Given the description of an element on the screen output the (x, y) to click on. 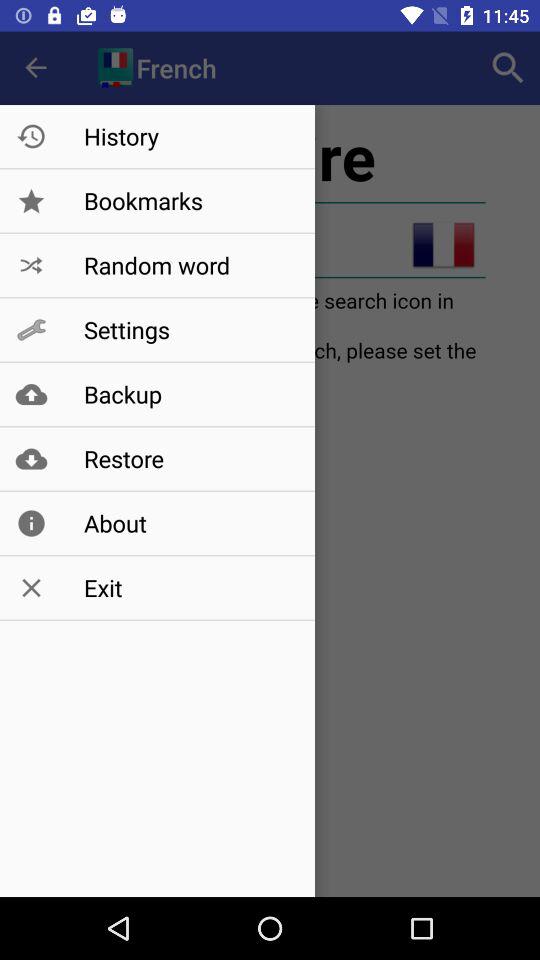
flip to the random word (188, 265)
